Given the description of an element on the screen output the (x, y) to click on. 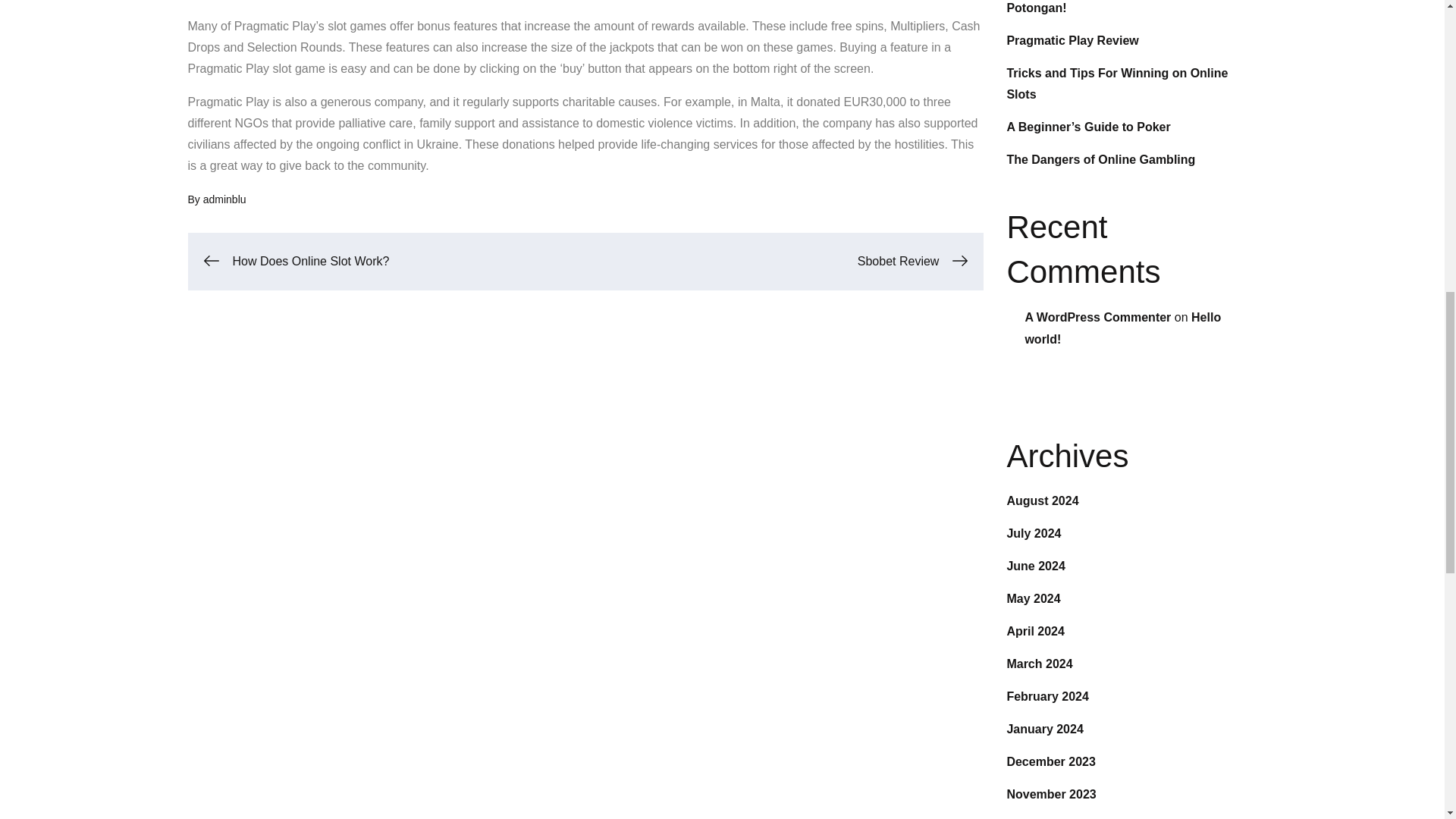
January 2024 (1044, 728)
adminblu (224, 199)
A WordPress Commenter (1097, 317)
November 2023 (1051, 793)
July 2024 (1033, 533)
April 2024 (1035, 631)
Pragmatic Play Review (1072, 40)
June 2024 (1035, 565)
Hello world! (1123, 328)
May 2024 (1032, 598)
